Given the description of an element on the screen output the (x, y) to click on. 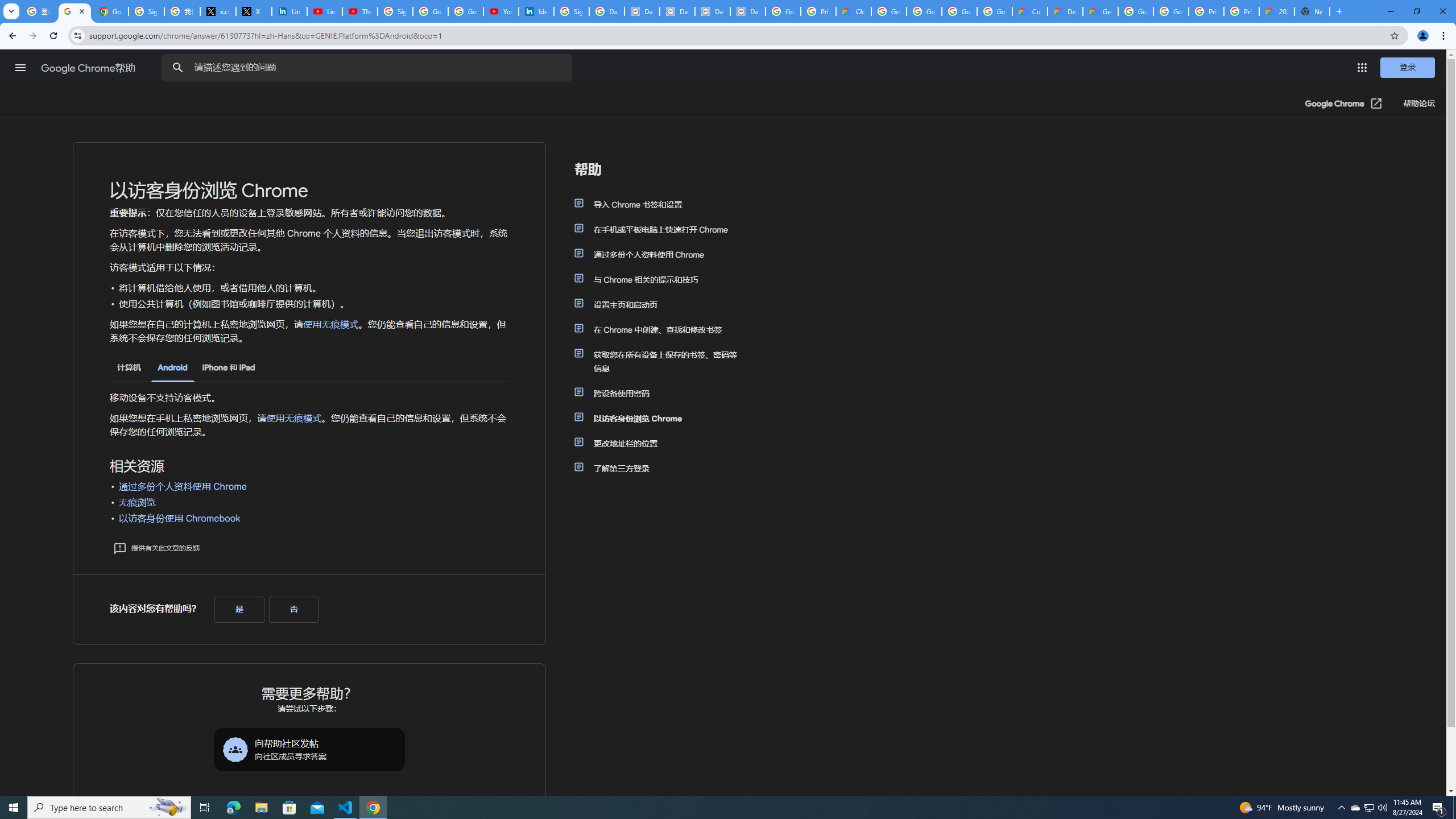
Google Workspace - Specific Terms (994, 11)
Data Privacy Framework (641, 11)
Google Cloud Platform (1135, 11)
Sign in - Google Accounts (394, 11)
